Given the description of an element on the screen output the (x, y) to click on. 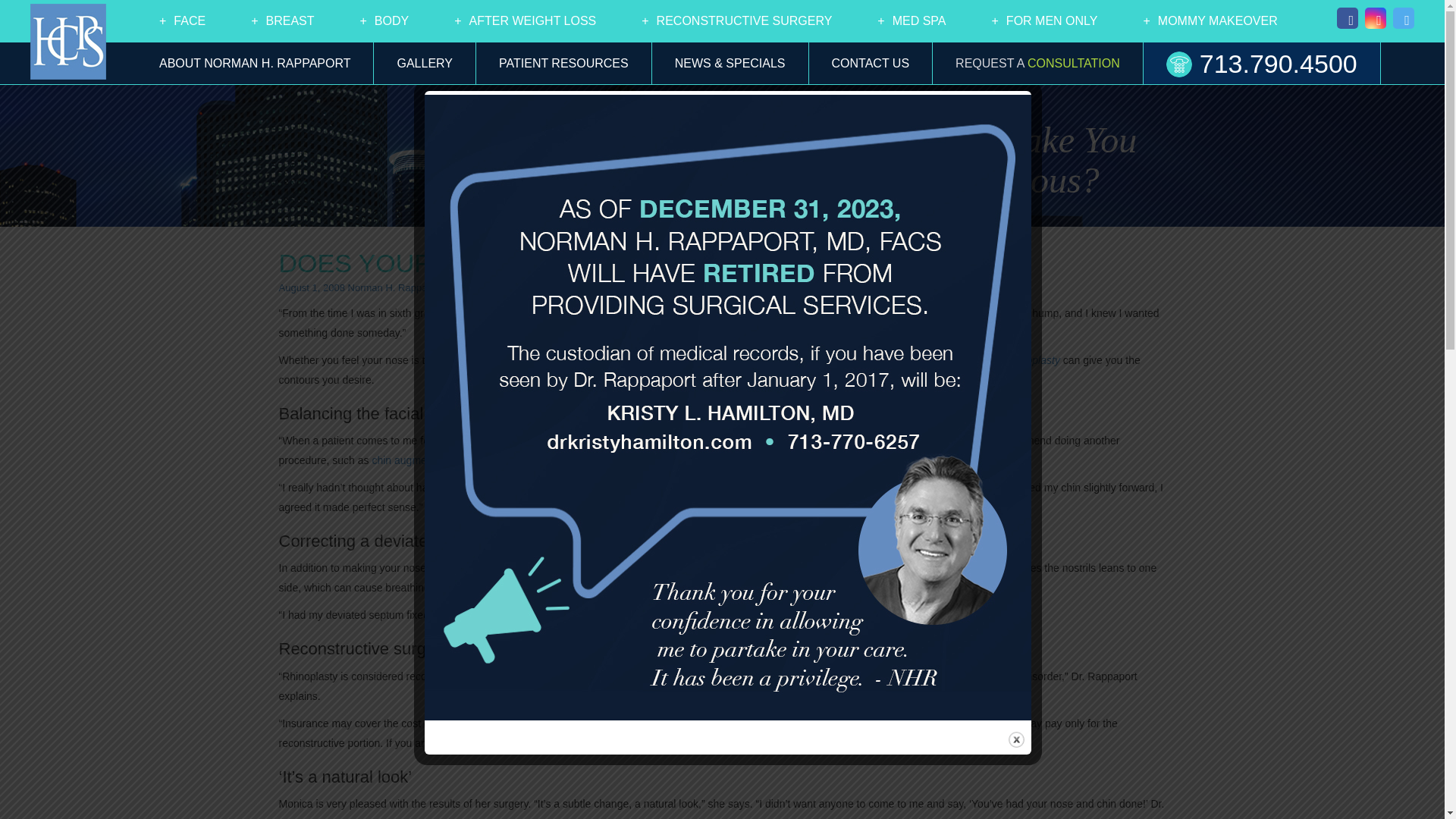
AFTER WEIGHT LOSS (524, 20)
Houston Center for Plastic Surgery (68, 40)
View all posts by Norman H. Rappaport M.D. (407, 287)
instagram (1373, 21)
Chin Implants (414, 460)
facebook (1347, 21)
FACE (182, 20)
FOR MEN ONLY (1045, 20)
Close (1017, 739)
5:52 am (312, 287)
